Given the description of an element on the screen output the (x, y) to click on. 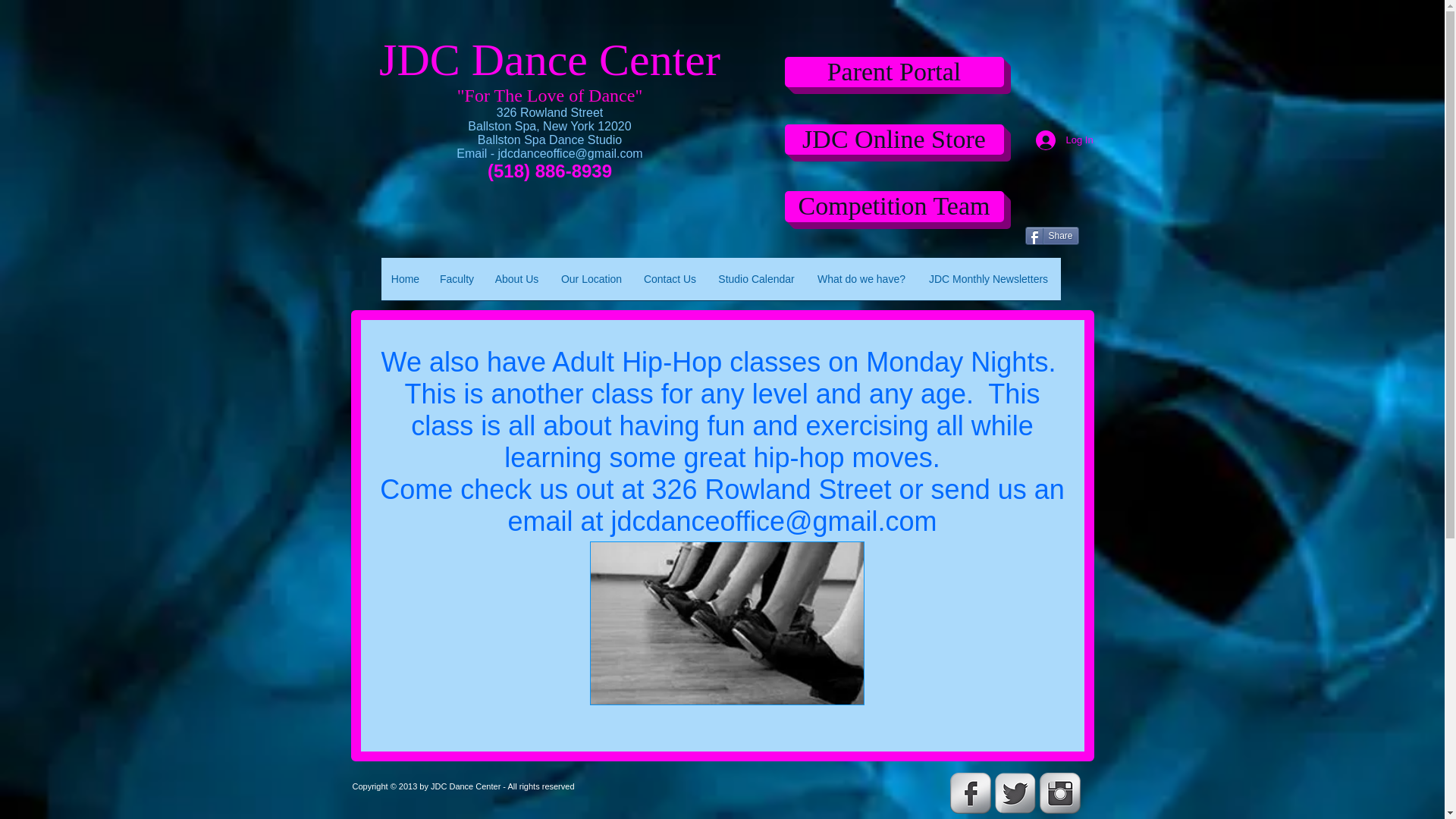
Share (1051, 235)
tap.jpg (726, 623)
Log In (1055, 140)
Share (1051, 235)
Contact Us (669, 283)
About Us (515, 283)
JDC Monthly Newsletters (987, 283)
JDC Online Store (893, 139)
Competition Team (893, 205)
Faculty (456, 283)
